Given the description of an element on the screen output the (x, y) to click on. 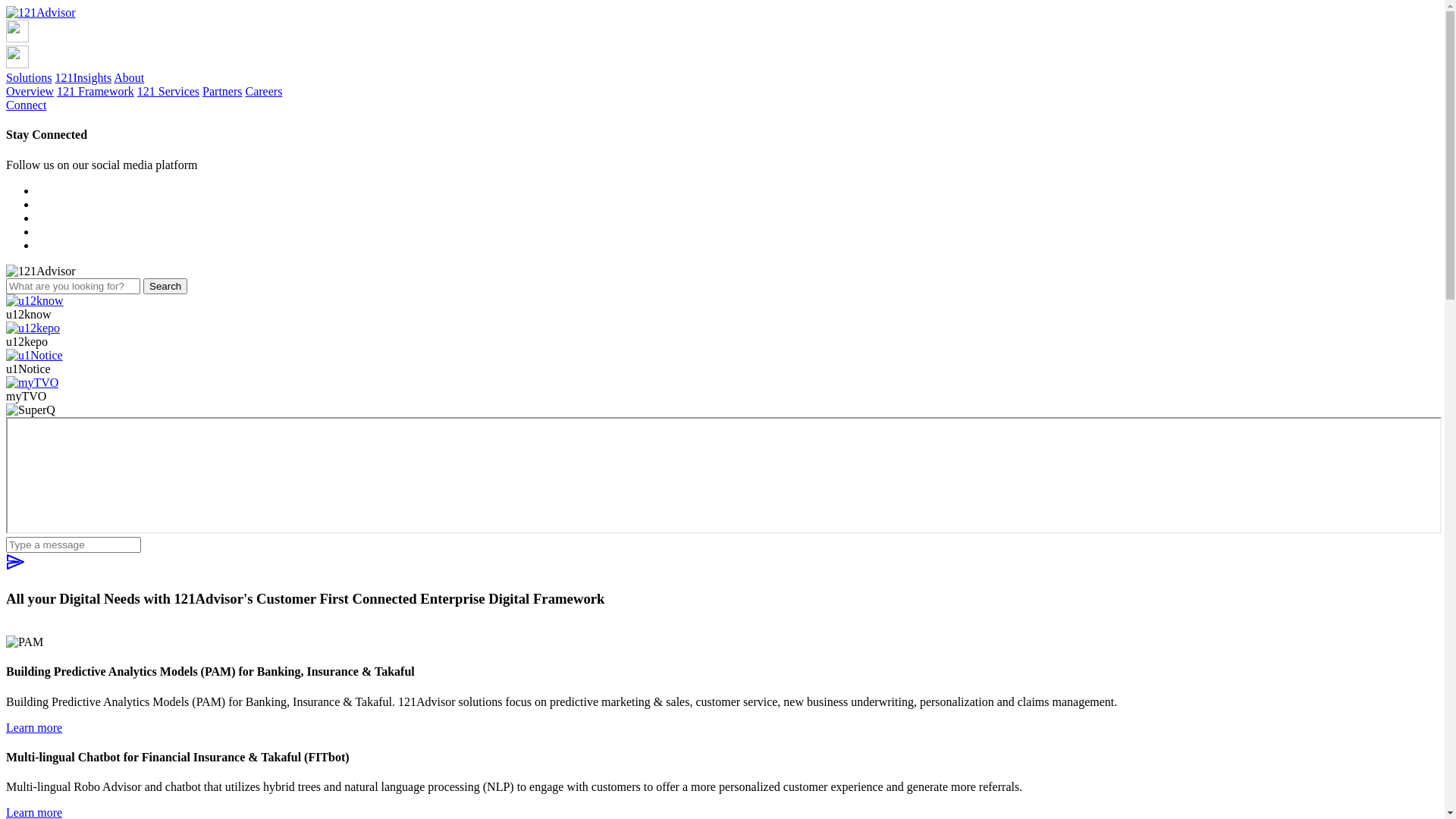
Careers Element type: text (263, 90)
Connect Element type: text (26, 104)
Learn more Element type: text (34, 726)
121 Services Element type: text (168, 90)
SuperQ Element type: hover (723, 475)
Search Element type: text (165, 286)
Partners Element type: text (221, 90)
About Element type: text (128, 77)
121 Framework Element type: text (95, 90)
Overview Element type: text (29, 90)
121Insights Element type: text (82, 77)
Solutions Element type: text (28, 77)
